Given the description of an element on the screen output the (x, y) to click on. 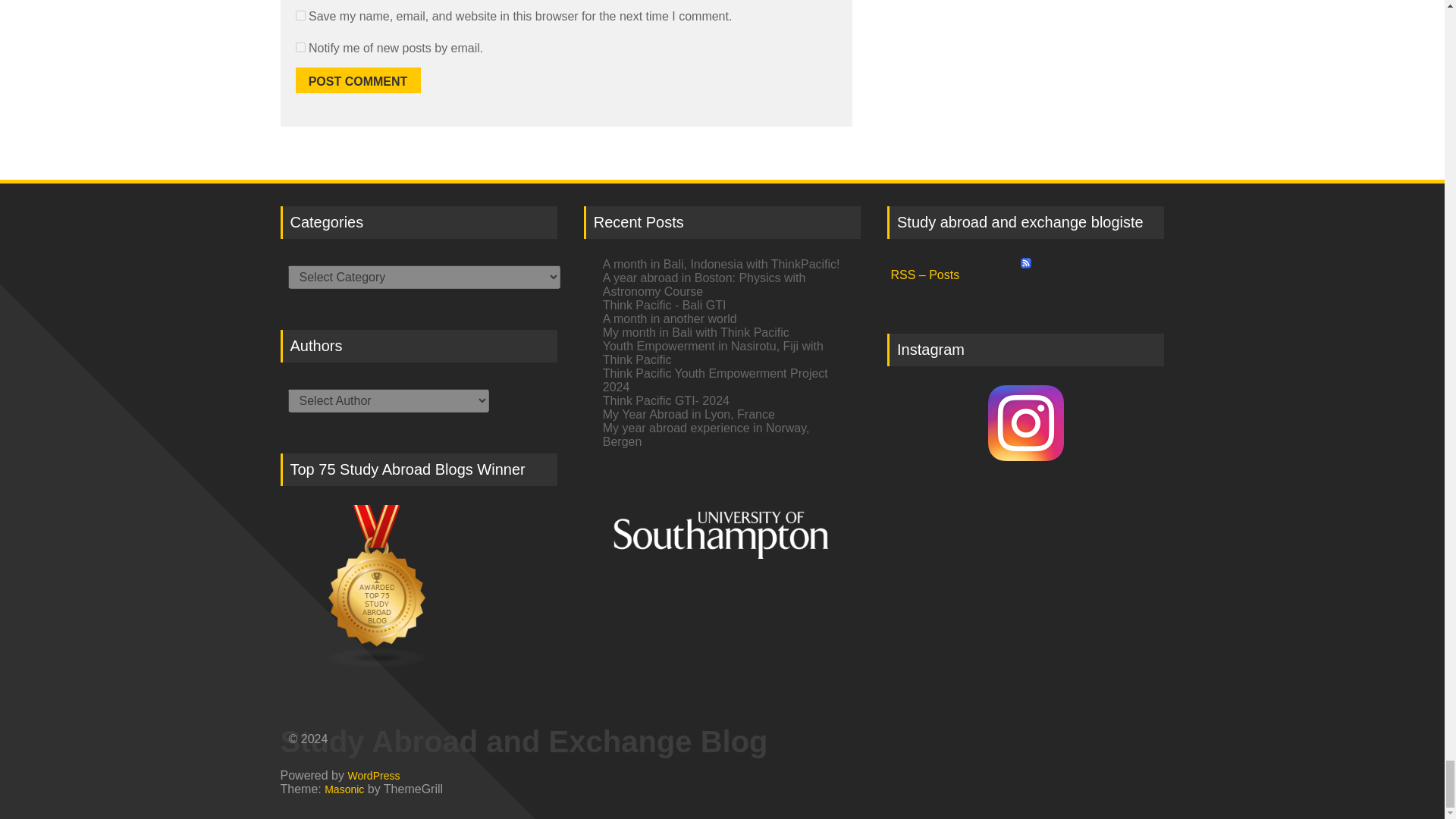
Subscribe to posts (1024, 270)
Study Abroad Blogs (418, 587)
yes (300, 15)
WordPress (372, 775)
Masonic (344, 788)
Instagram (1024, 426)
subscribe (300, 47)
Post Comment (357, 80)
